Given the description of an element on the screen output the (x, y) to click on. 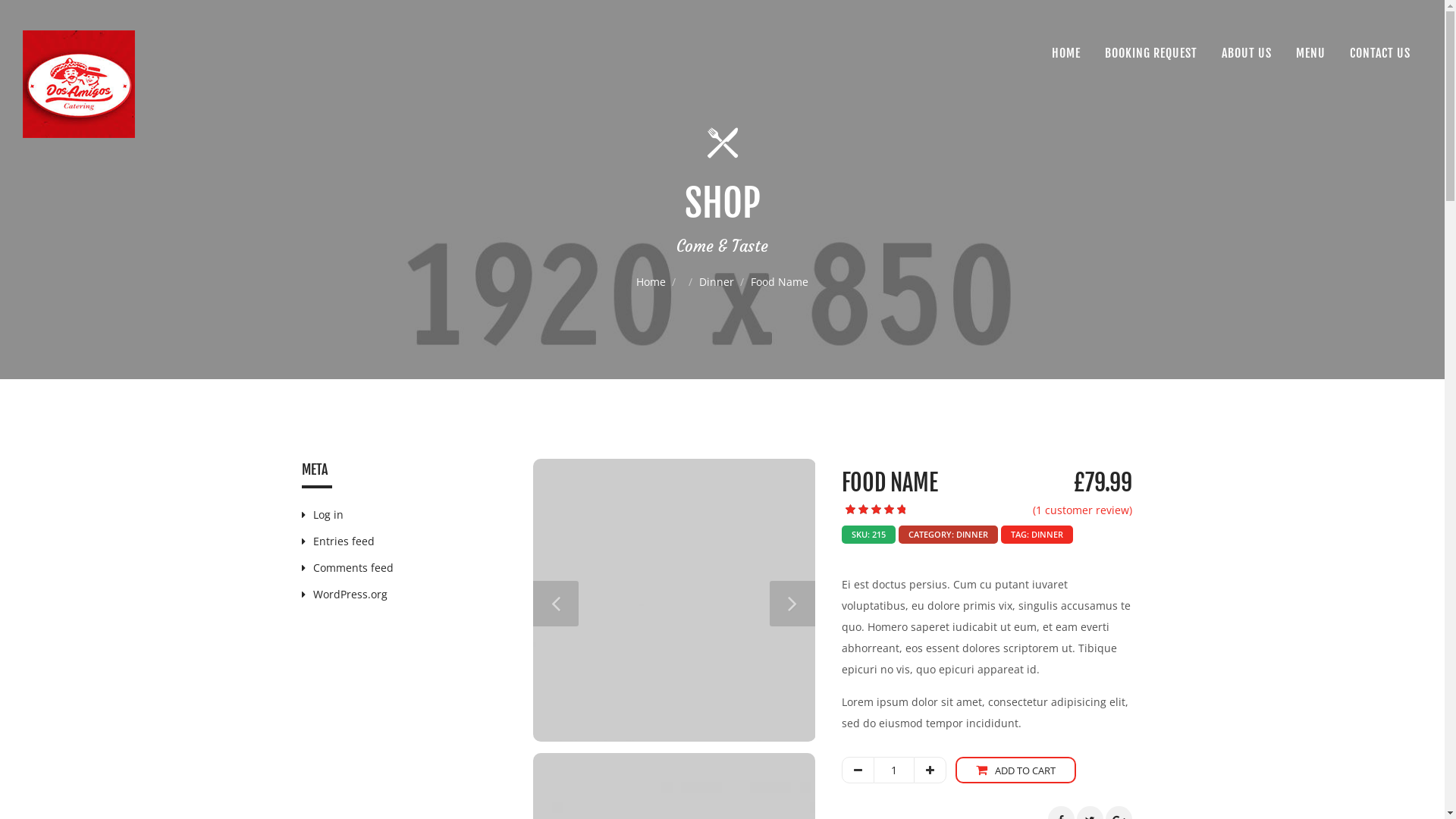
shop-2 Element type: hover (673, 599)
Log in Element type: text (322, 514)
ABOUT US Element type: text (1246, 52)
CONTACT US Element type: text (1379, 52)
Home Element type: text (650, 281)
DINNER Element type: text (1047, 533)
Dinner Element type: text (716, 281)
MENU Element type: text (1310, 52)
Dos Amigos Catering Element type: hover (78, 84)
DINNER Element type: text (972, 533)
BOOKING REQUEST Element type: text (1150, 52)
(1 customer review) Element type: text (1082, 509)
Qty Element type: hover (893, 769)
HOME Element type: text (1066, 52)
Entries feed Element type: text (337, 540)
Comments feed Element type: text (347, 567)
WordPress.org Element type: text (344, 593)
ADD TO CART Element type: text (1015, 769)
